Given the description of an element on the screen output the (x, y) to click on. 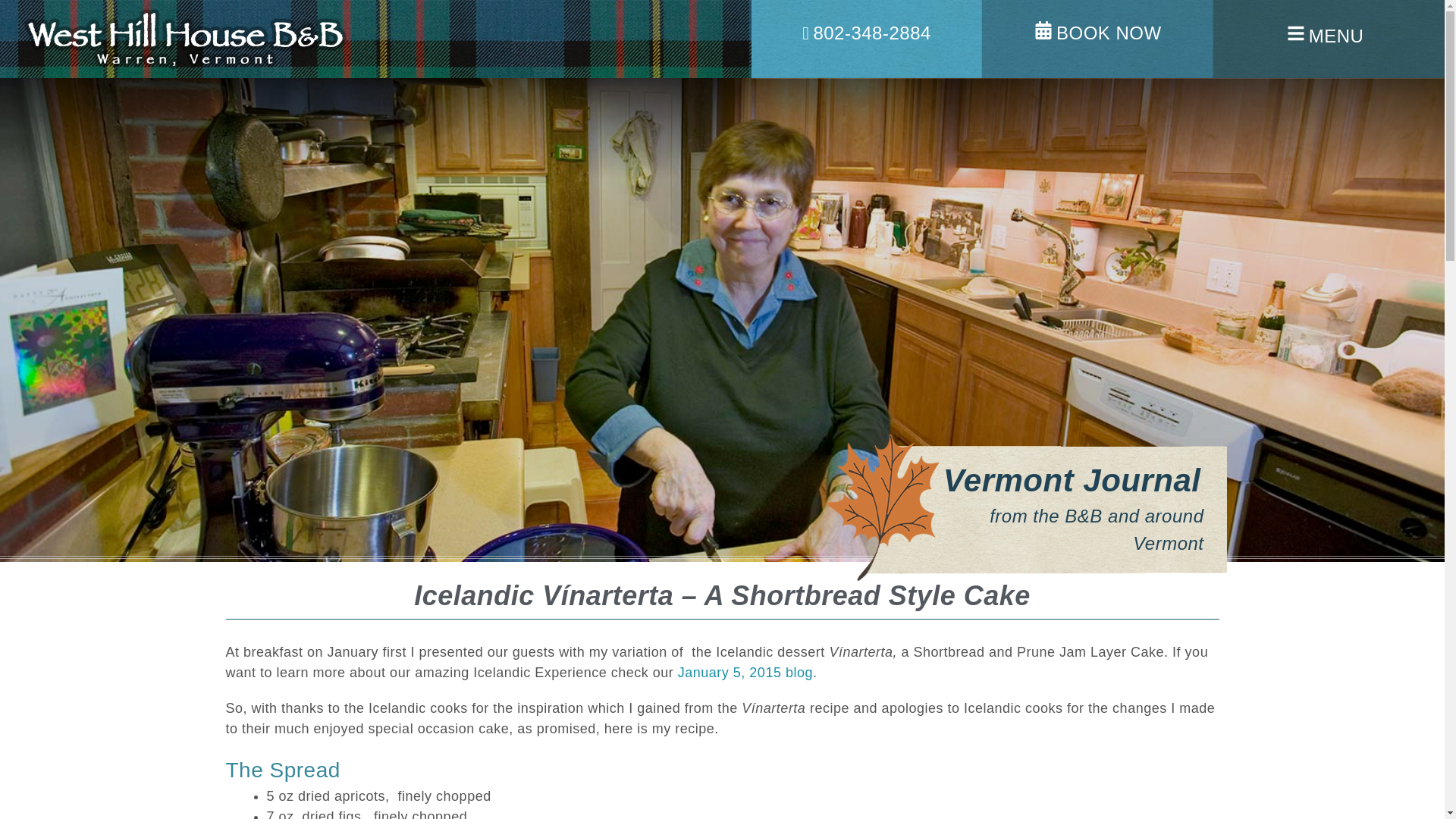
802-348-2884 (866, 32)
January 5, 2015 blog (745, 672)
MENU (1325, 35)
BOOK NOW (1097, 32)
